Given the description of an element on the screen output the (x, y) to click on. 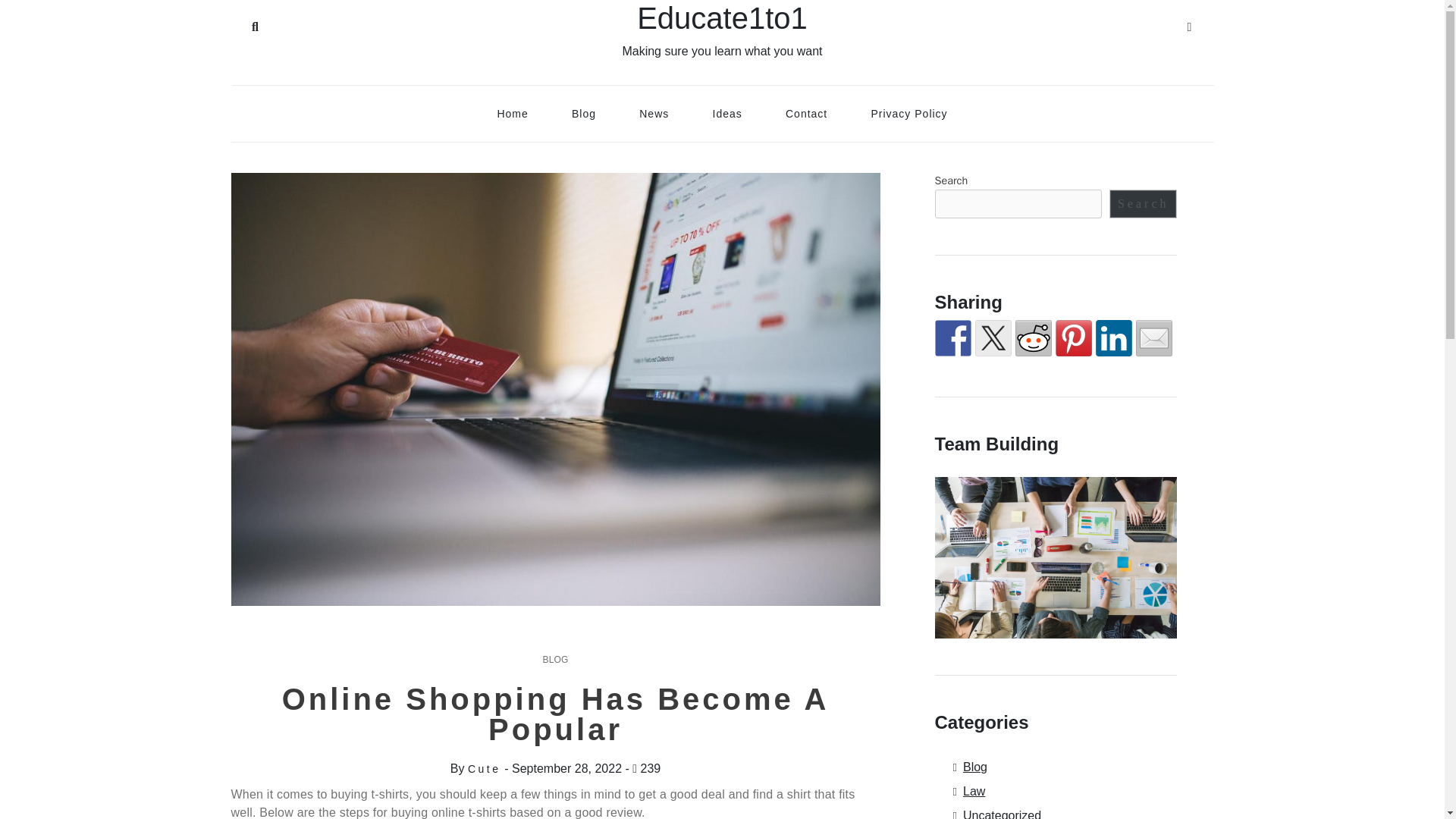
Share on Facebook (952, 338)
Share by email (1153, 338)
Educate1to1 (722, 18)
Cute (483, 768)
Pin it with Pinterest (1073, 338)
Share on Linkedin (1112, 338)
Home (512, 113)
Ideas (727, 113)
Share on Twitter (993, 338)
Search (254, 24)
Menu (1188, 24)
Search (1143, 203)
September 28, 2022 (566, 768)
Share on Reddit (1032, 338)
News (654, 113)
